Given the description of an element on the screen output the (x, y) to click on. 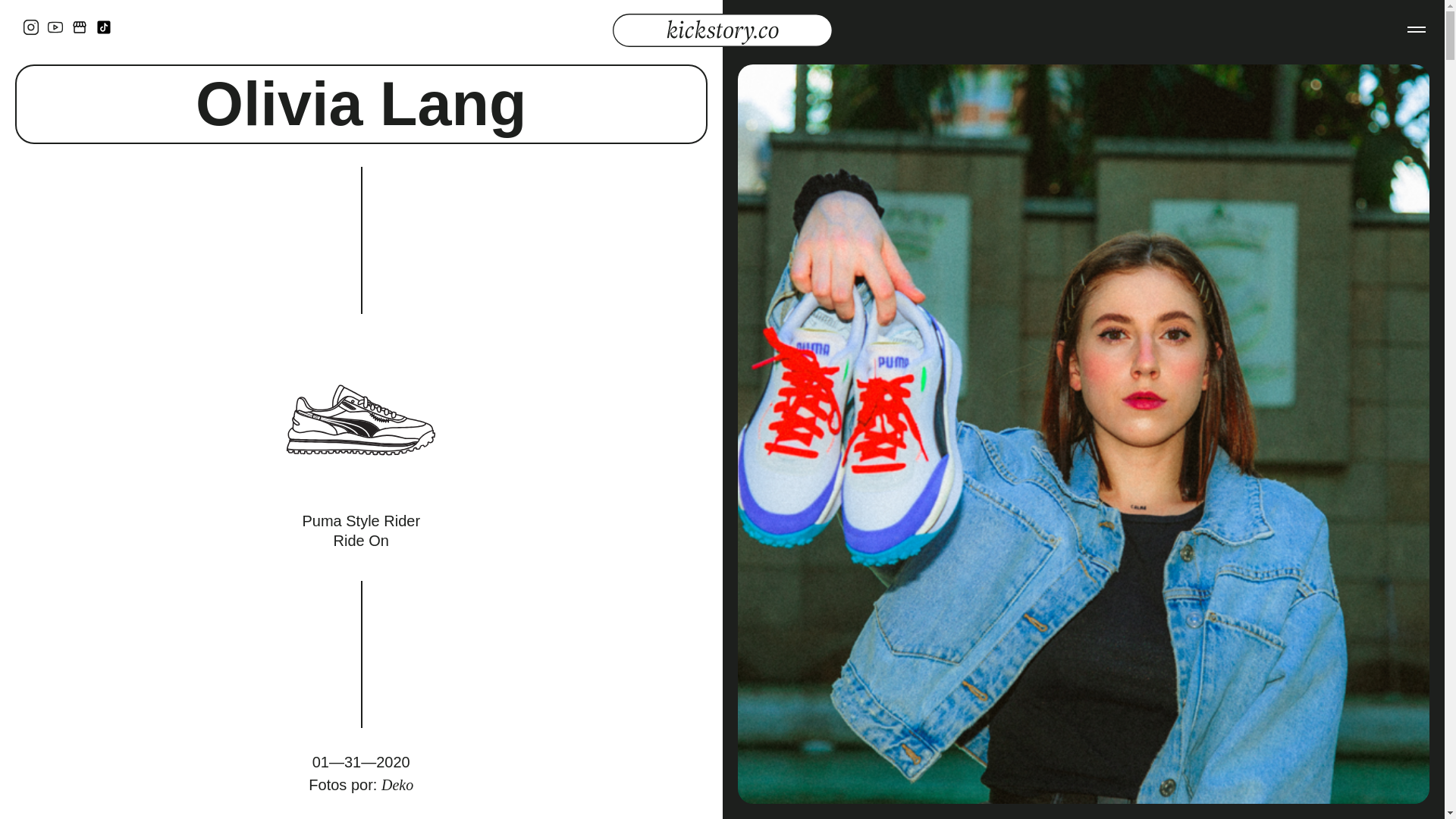
Youtube (56, 27)
Instagram (31, 27)
Store (79, 27)
TikTok (104, 27)
